Given the description of an element on the screen output the (x, y) to click on. 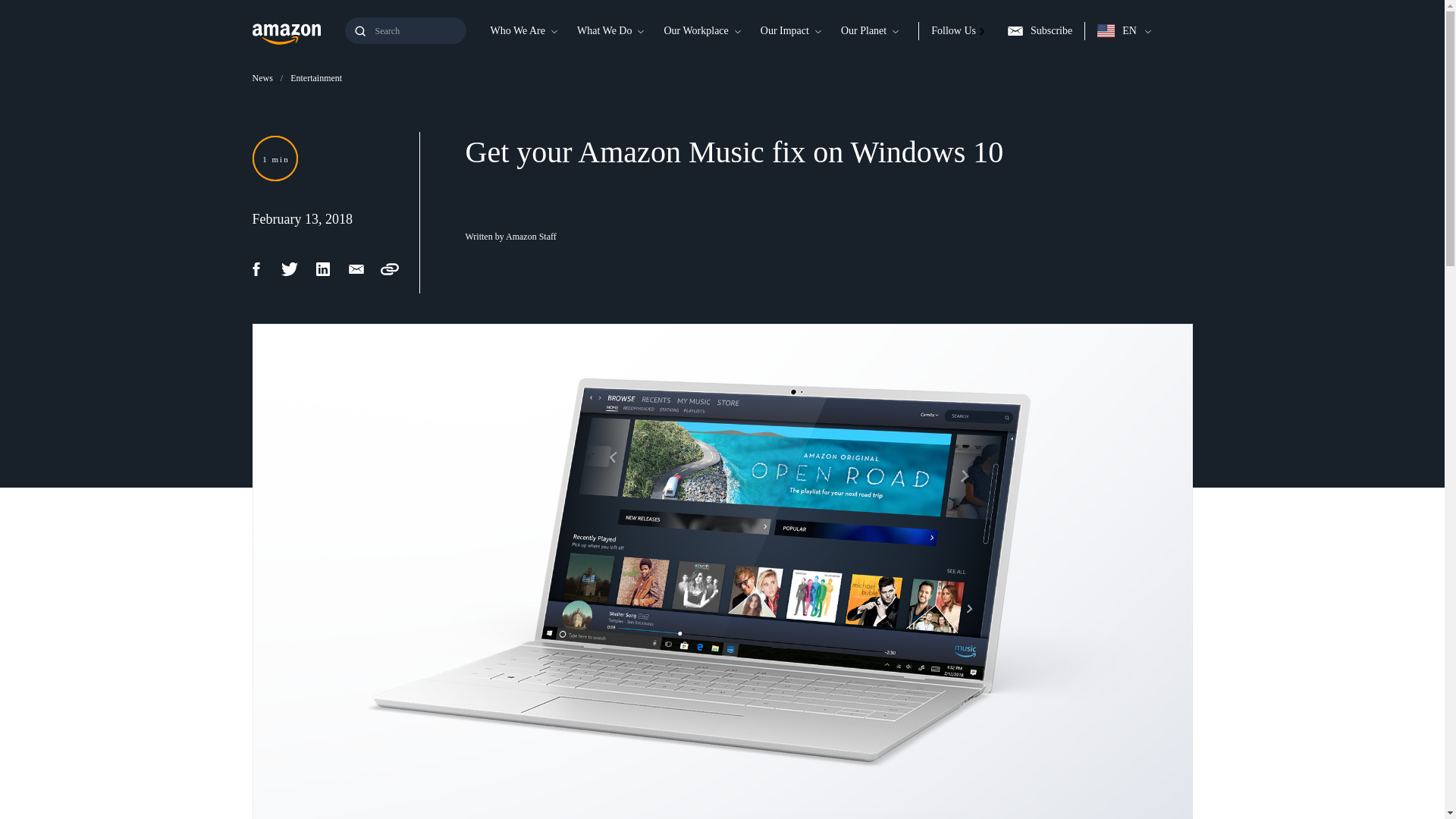
Our Impact (784, 30)
email (363, 269)
What We Do (603, 30)
Facebook Share (264, 269)
Who We Are (516, 30)
copy link (396, 269)
Our Workplace (694, 30)
LinkedIn Share (330, 269)
Twitter Share (297, 269)
